Given the description of an element on the screen output the (x, y) to click on. 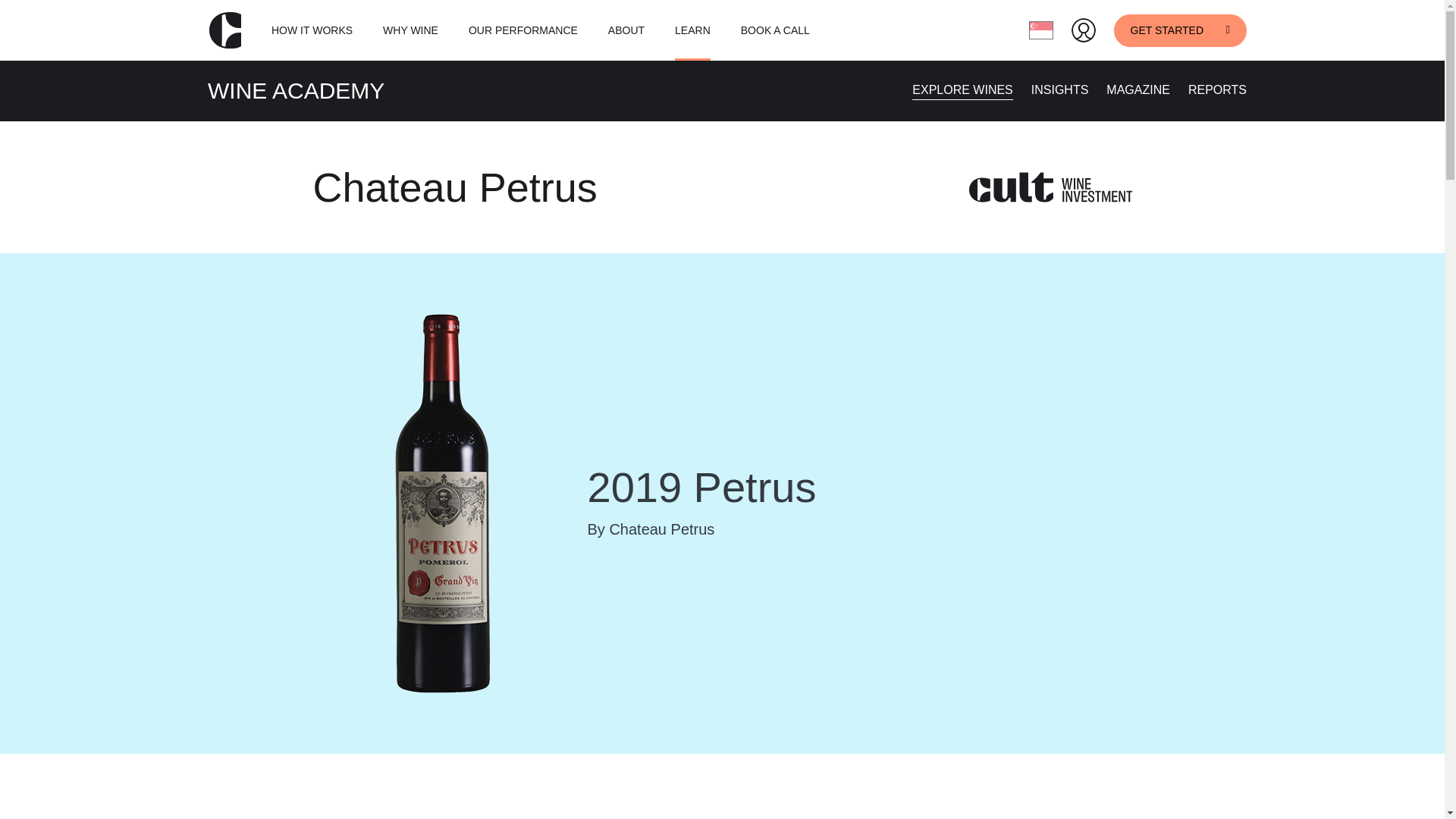
EXPLORE WINES (961, 90)
HOW IT WORKS (311, 30)
MAGAZINE (1138, 90)
BOOK A CALL (775, 30)
WHY WINE (410, 30)
REPORTS (1217, 90)
WINE ACADEMY (296, 90)
INSIGHTS (1059, 90)
Chateau Petrus (454, 186)
GET STARTED (1179, 29)
